Given the description of an element on the screen output the (x, y) to click on. 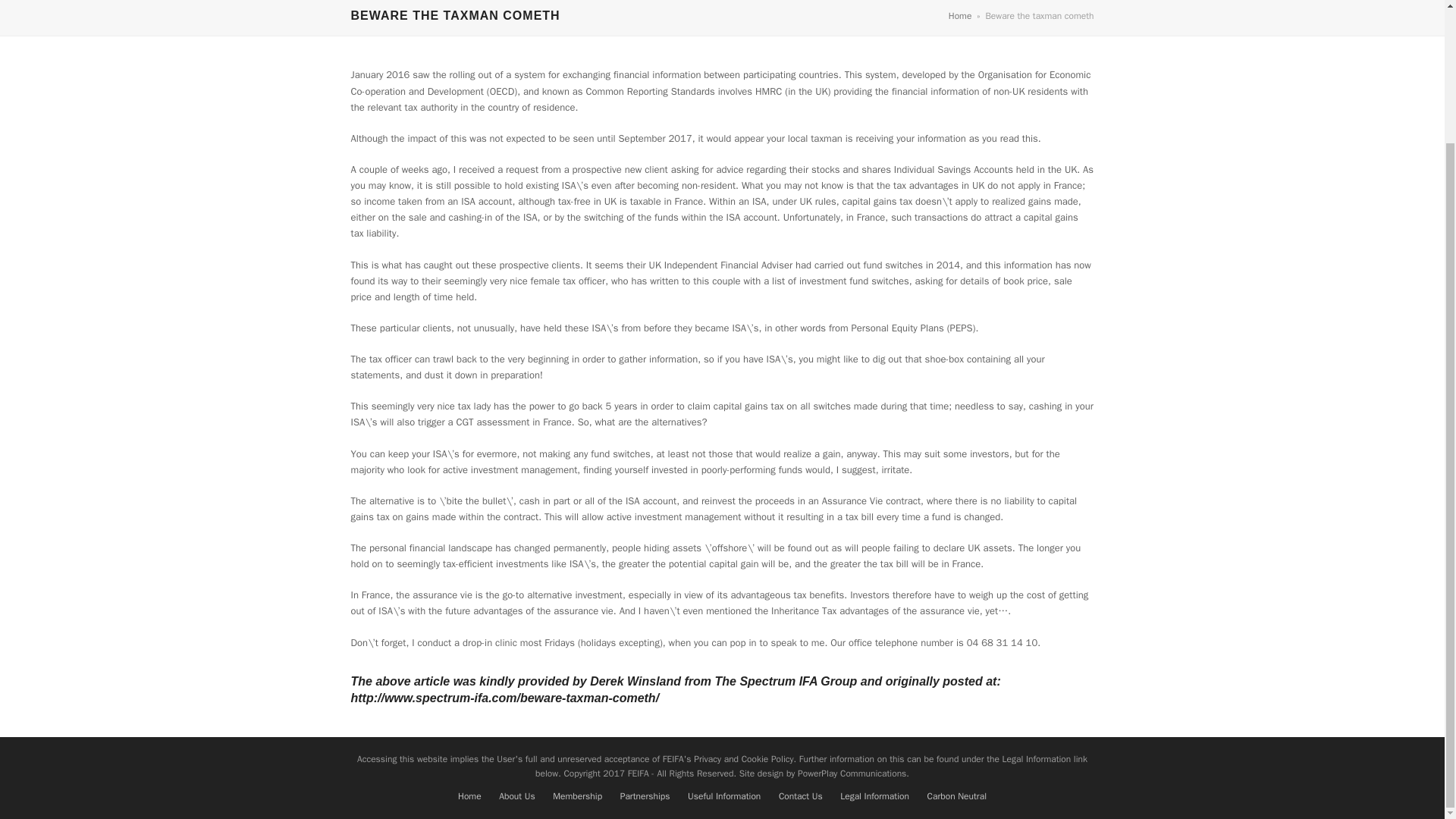
Home (960, 15)
Home (469, 796)
About Us (516, 796)
